Given the description of an element on the screen output the (x, y) to click on. 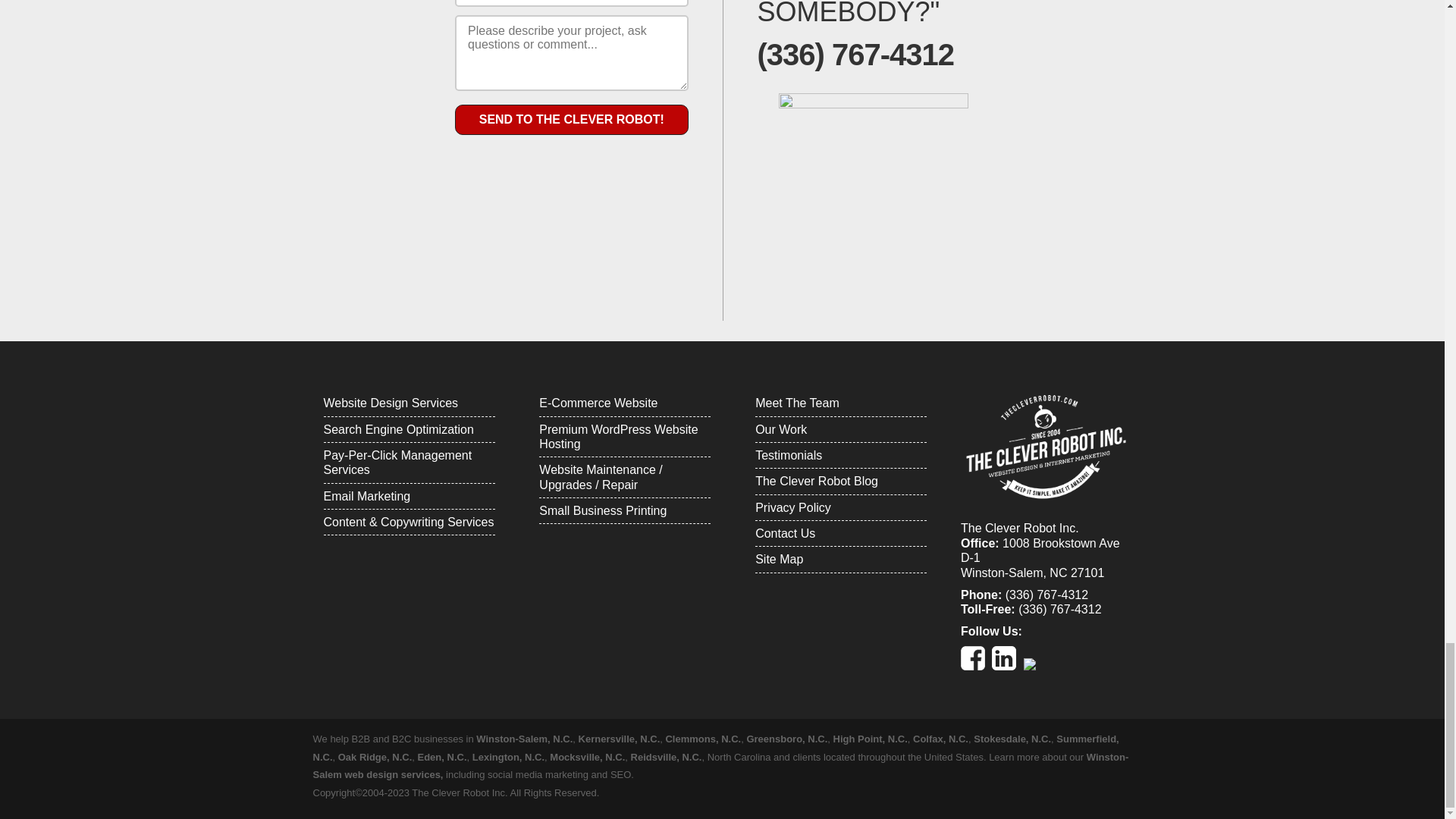
Send To The Clever Robot! (570, 119)
